Given the description of an element on the screen output the (x, y) to click on. 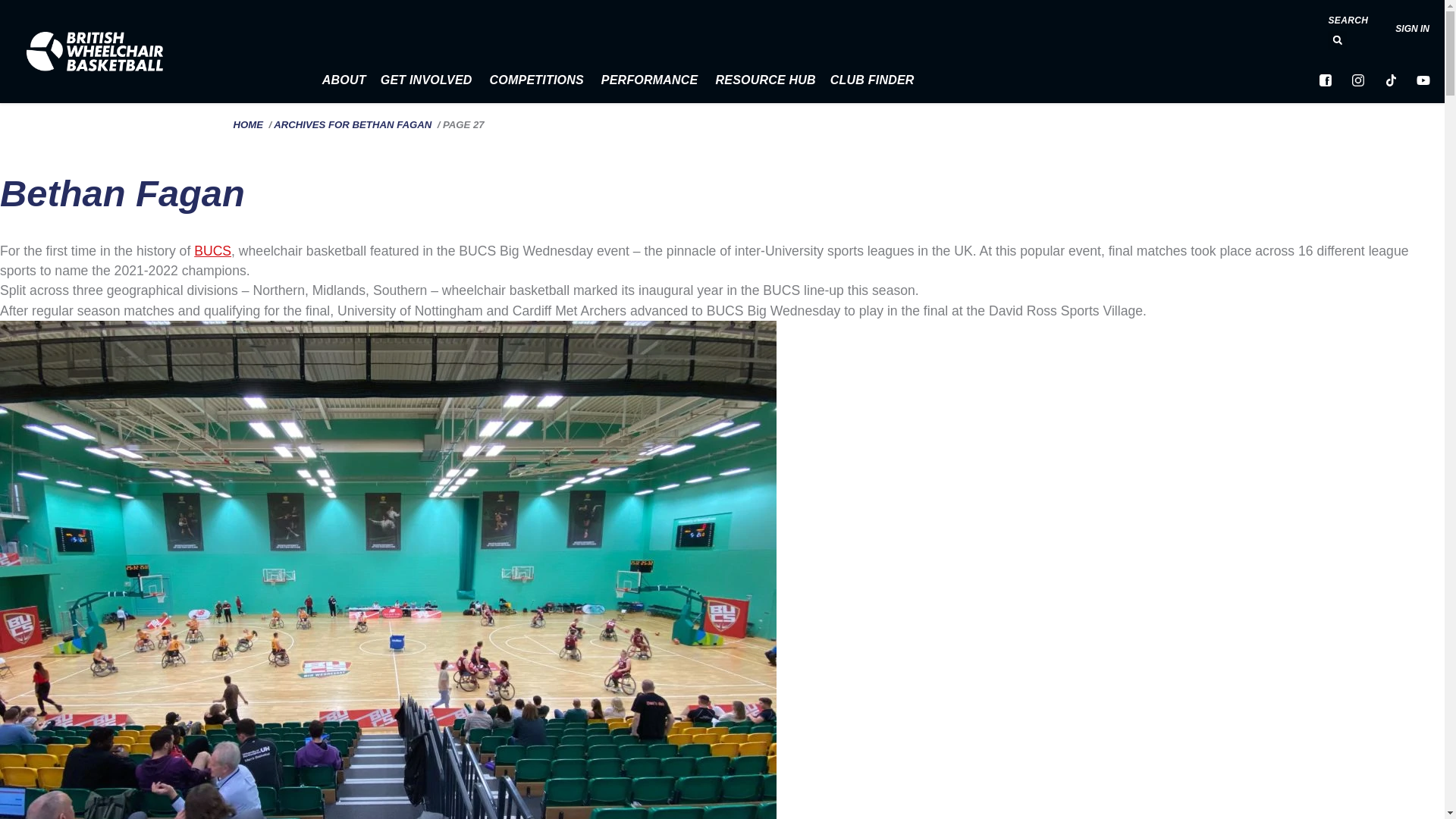
ABOUT (349, 79)
SIGN IN (1411, 28)
